Given the description of an element on the screen output the (x, y) to click on. 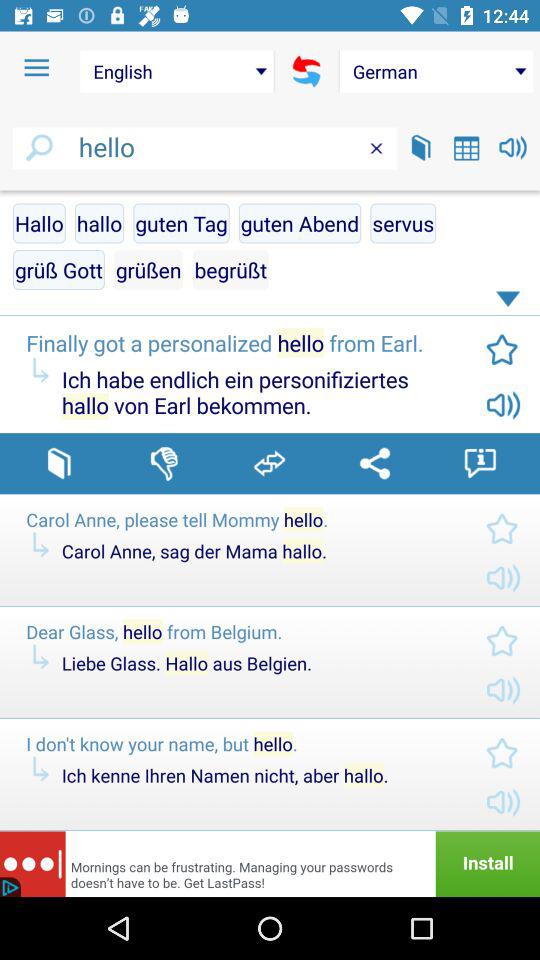
dictionary option (58, 463)
